Given the description of an element on the screen output the (x, y) to click on. 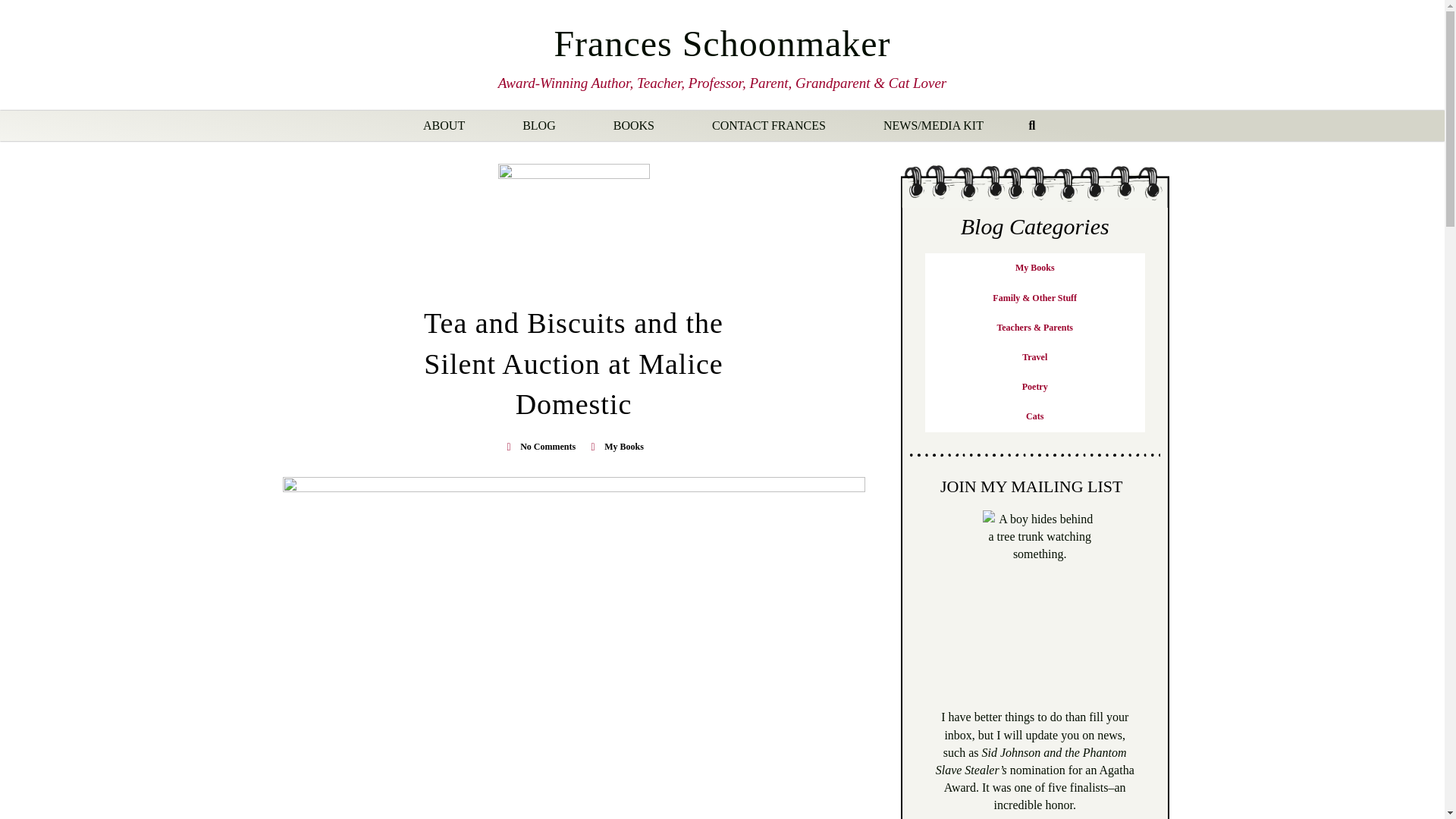
Cats (1034, 416)
CONTACT FRANCES (768, 125)
My Books (1034, 267)
BLOG (539, 125)
My Books (623, 446)
Travel (1034, 357)
No Comments (539, 446)
Frances Schoonmaker (721, 43)
Poetry (1034, 387)
ABOUT (443, 125)
BOOKS (634, 125)
